Given the description of an element on the screen output the (x, y) to click on. 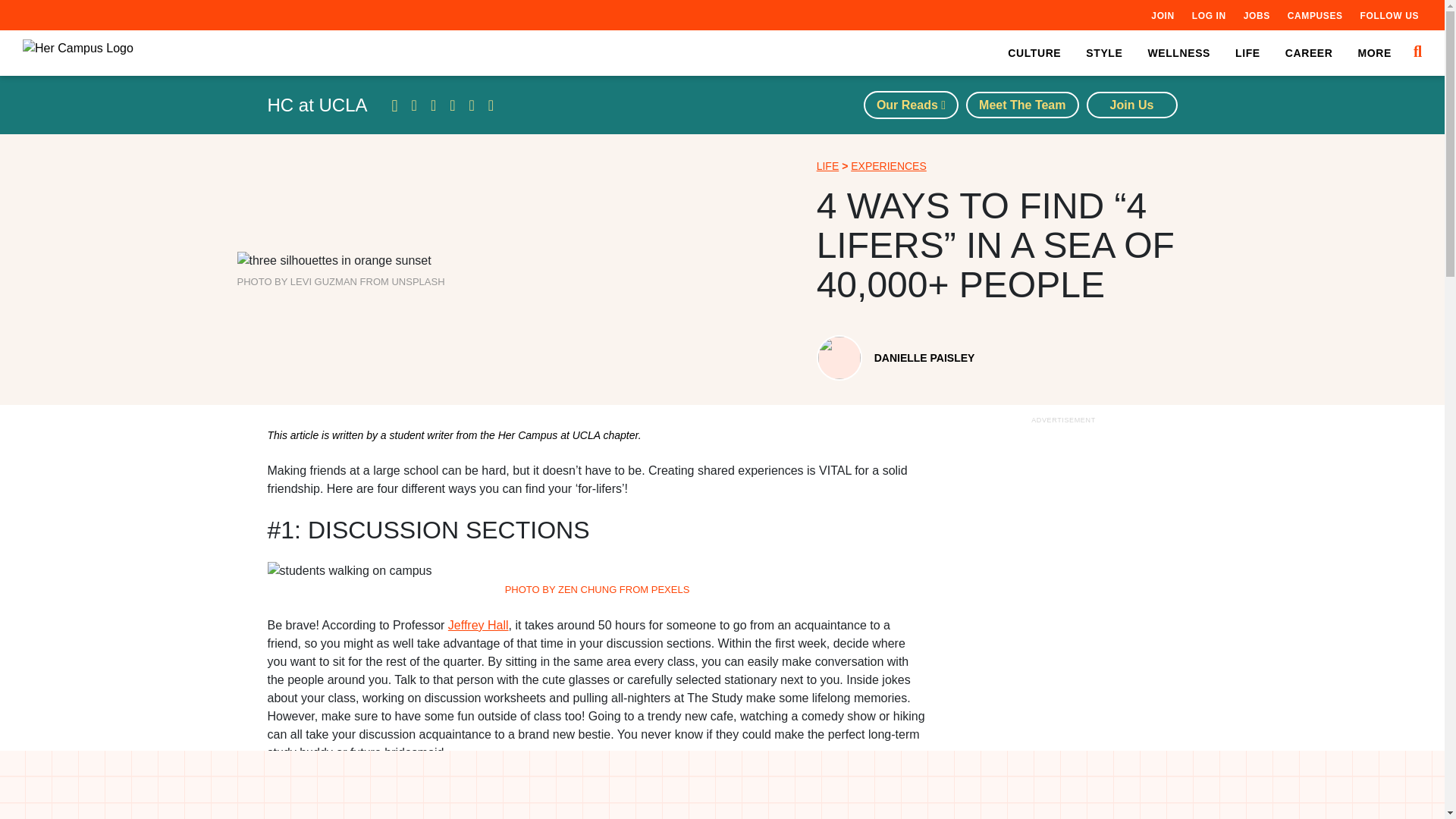
LOG IN (1208, 15)
JOIN (1162, 15)
JOBS (1256, 15)
CAMPUSES (1314, 15)
Jeffrey Hall (478, 625)
